Given the description of an element on the screen output the (x, y) to click on. 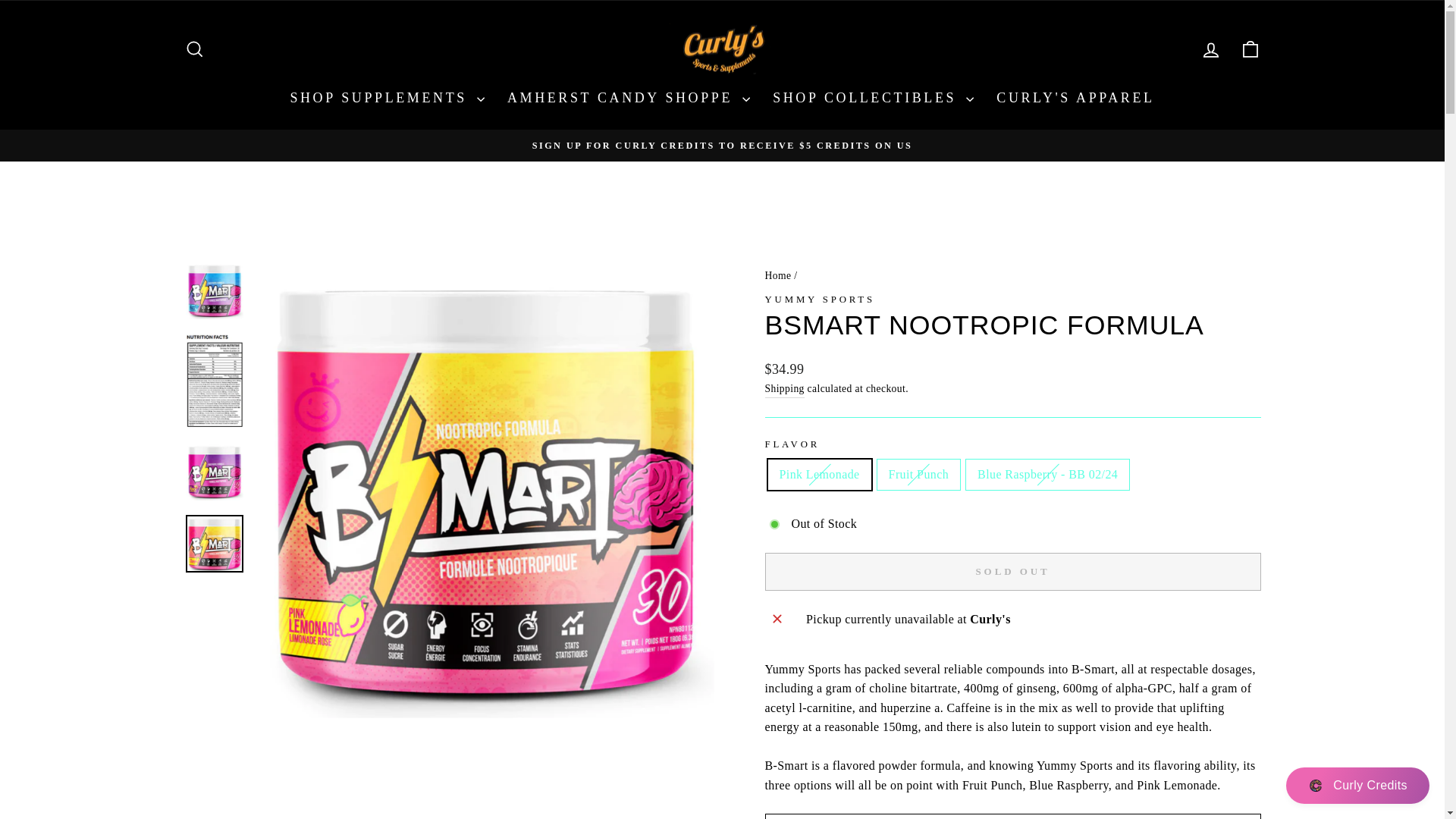
ACCOUNT (1210, 49)
Yummy Sports (819, 299)
ICON-BAG-MINIMAL (1249, 48)
ICON-SEARCH (194, 48)
Back to the frontpage (777, 275)
BON Loyalty (1315, 785)
